Given the description of an element on the screen output the (x, y) to click on. 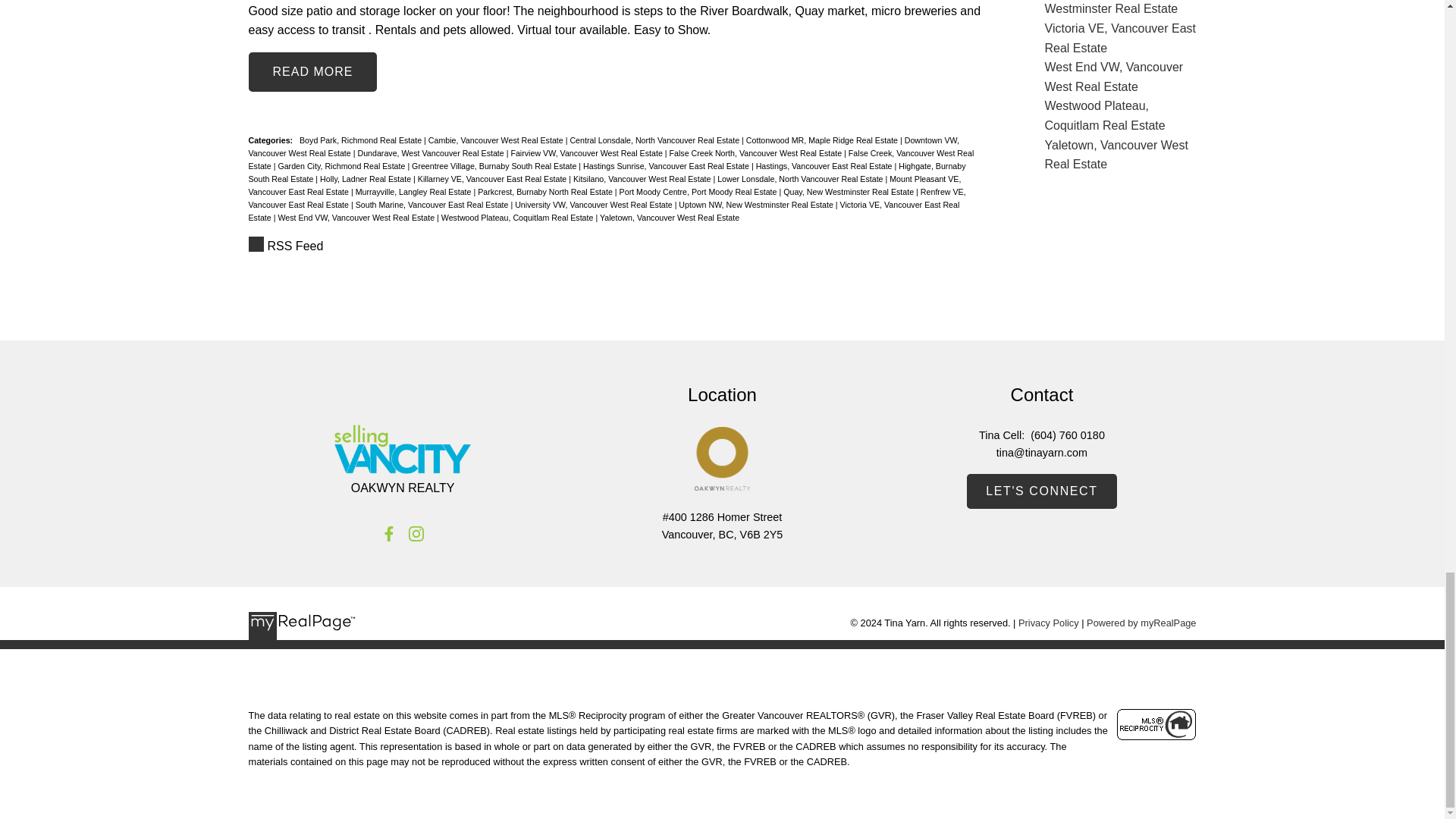
Cottonwood MR, Maple Ridge Real Estate (822, 139)
Cambie, Vancouver West Real Estate (497, 139)
Boyd Park, Richmond Real Estate (361, 139)
Central Lonsdale, North Vancouver Real Estate (655, 139)
RSS (616, 246)
READ (312, 71)
Downtown VW, Vancouver West Real Estate (603, 146)
